Given the description of an element on the screen output the (x, y) to click on. 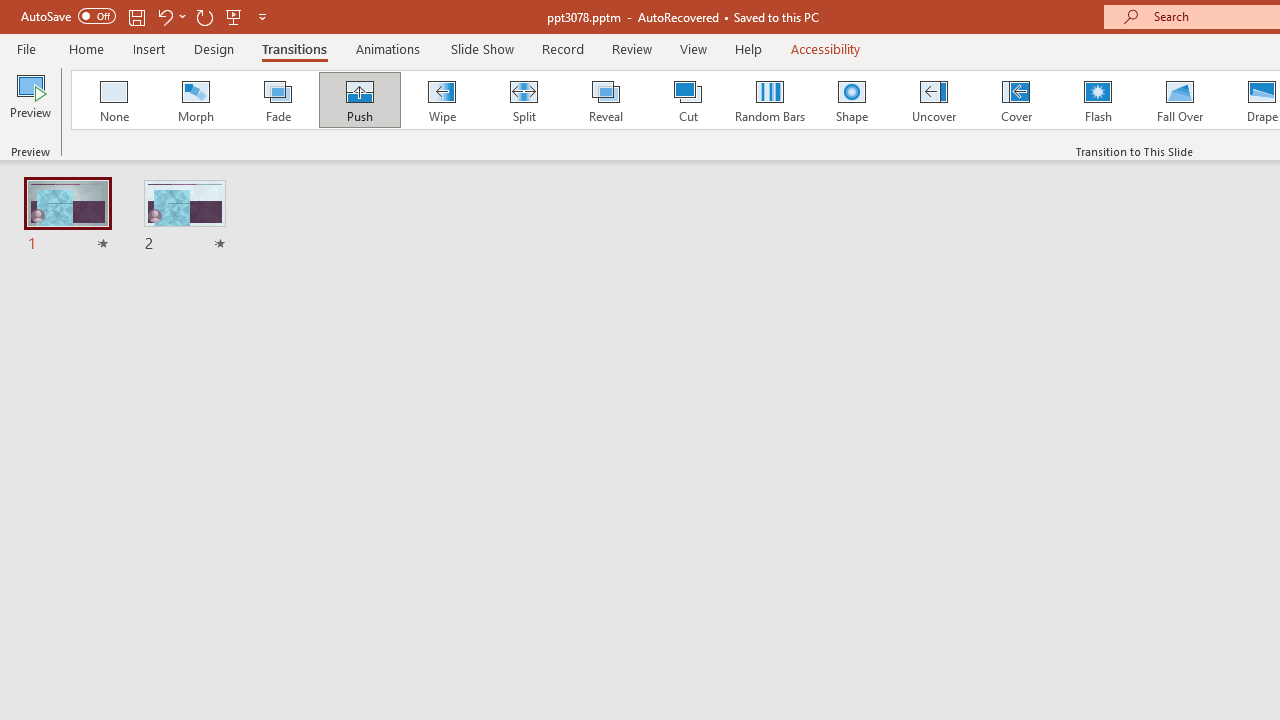
Reveal (605, 100)
Wipe (441, 100)
Flash (1098, 100)
